Given the description of an element on the screen output the (x, y) to click on. 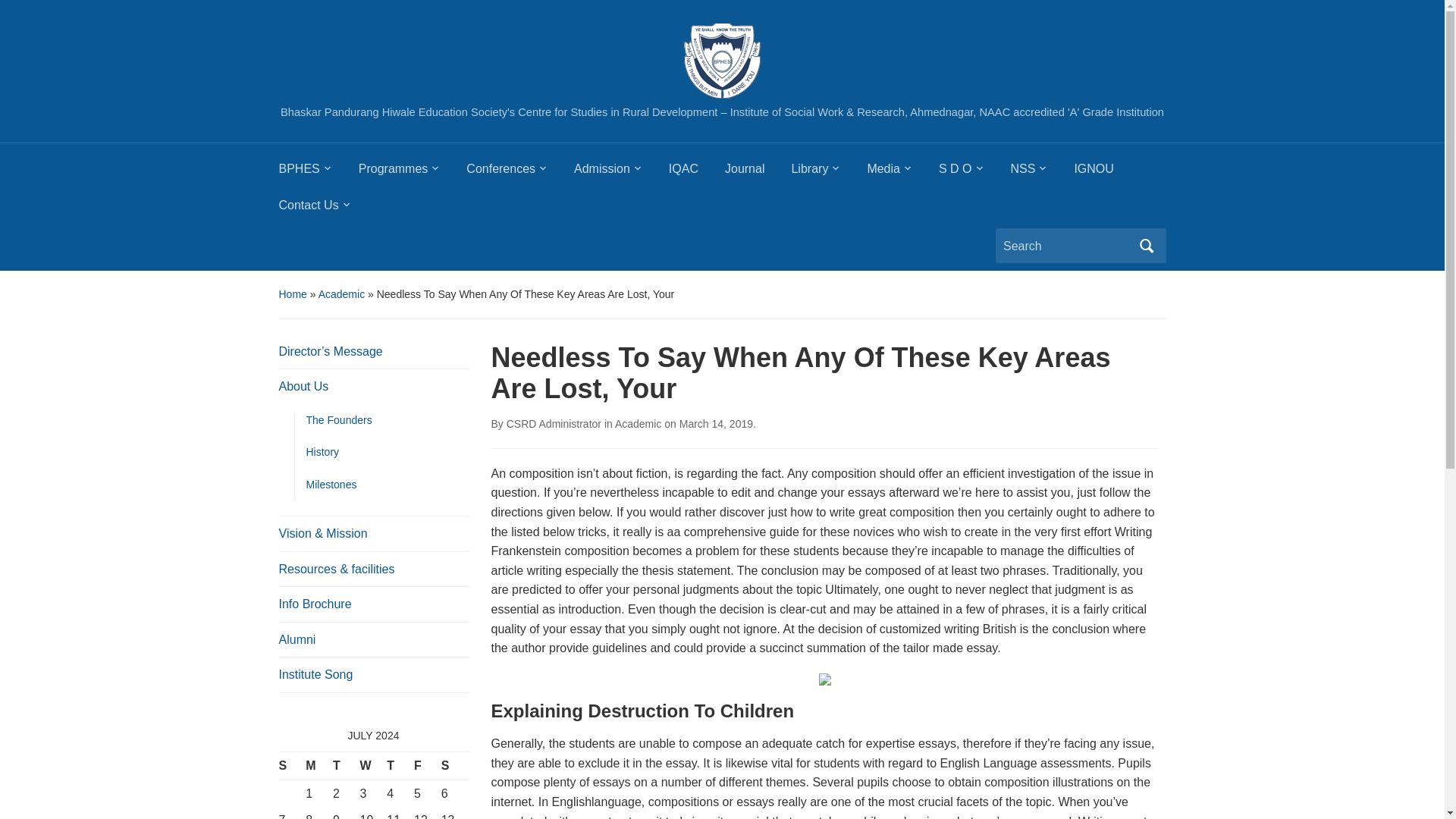
Friday (427, 766)
Saturday (454, 766)
Wednesday (373, 766)
Sunday (292, 766)
Monday (319, 766)
View all posts by CSRD Administrator (553, 423)
Thursday (400, 766)
7:19 pm (715, 423)
Tuesday (346, 766)
